Given the description of an element on the screen output the (x, y) to click on. 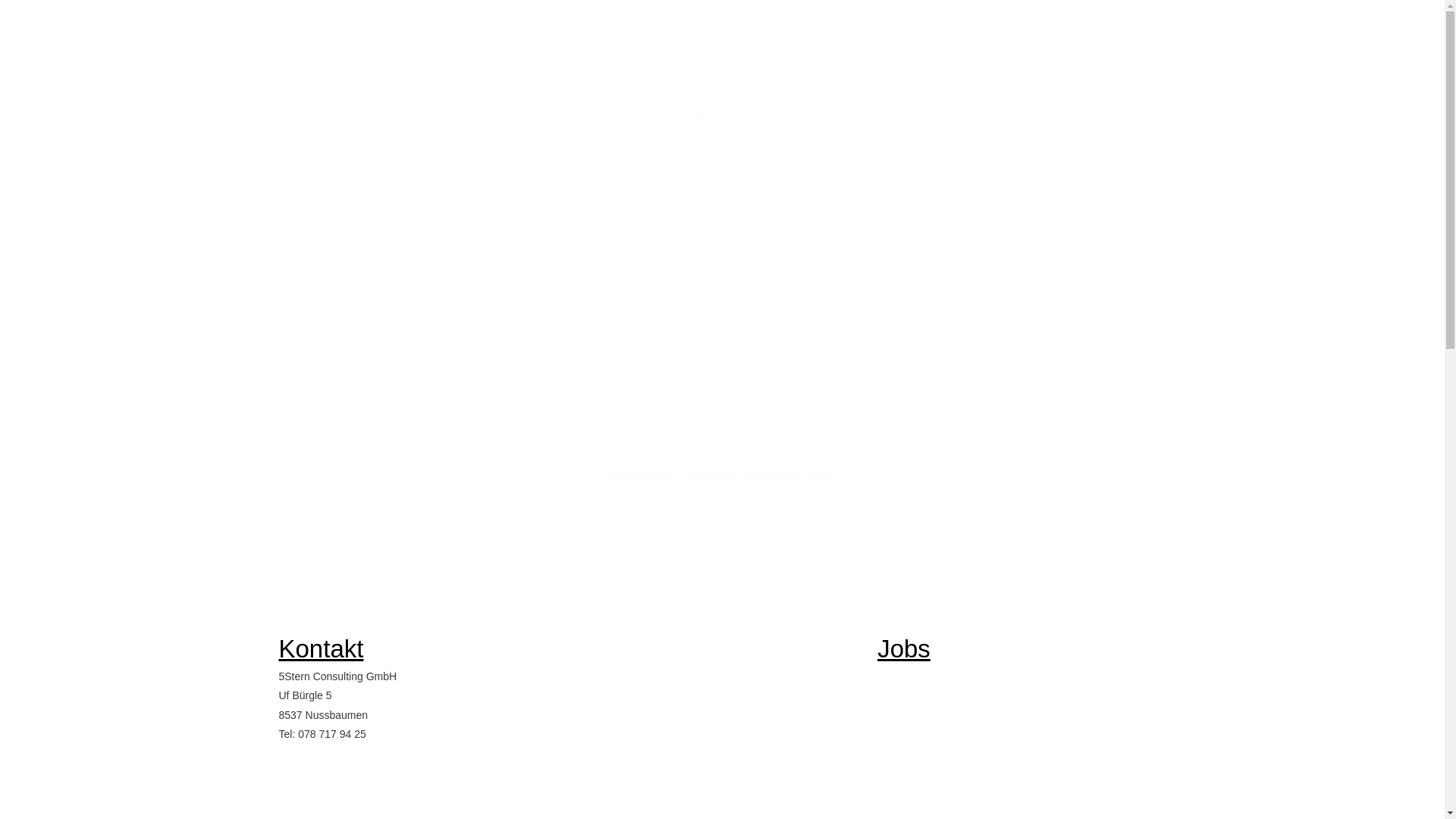
Kontakt Element type: text (321, 648)
STARTSEITE Element type: text (722, 120)
Jobs Element type: text (903, 648)
